Given the description of an element on the screen output the (x, y) to click on. 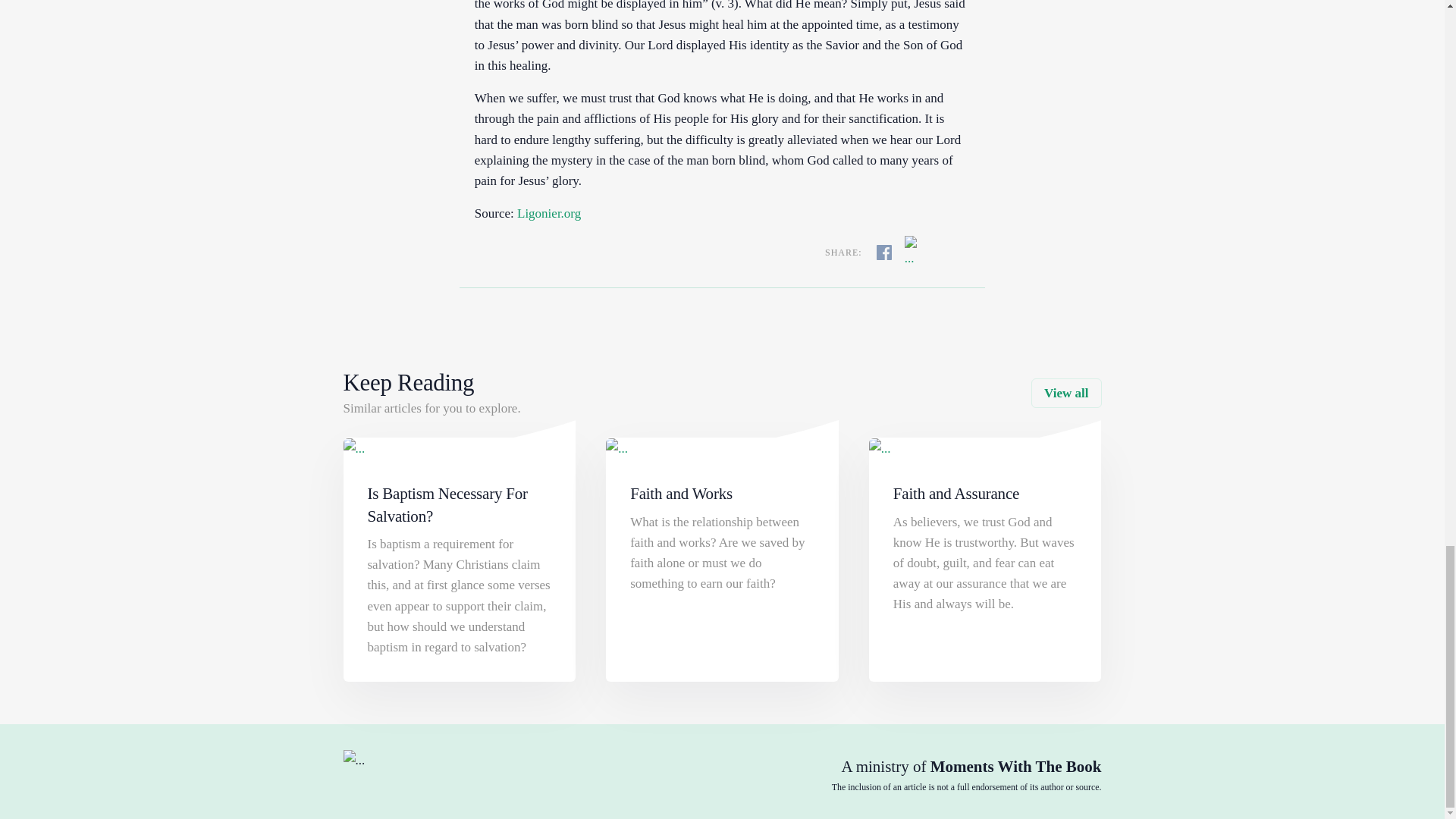
Suffering and the Glory of God (548, 213)
View all (1065, 392)
Ligonier.org (548, 213)
Moments With The Book (1016, 766)
